Given the description of an element on the screen output the (x, y) to click on. 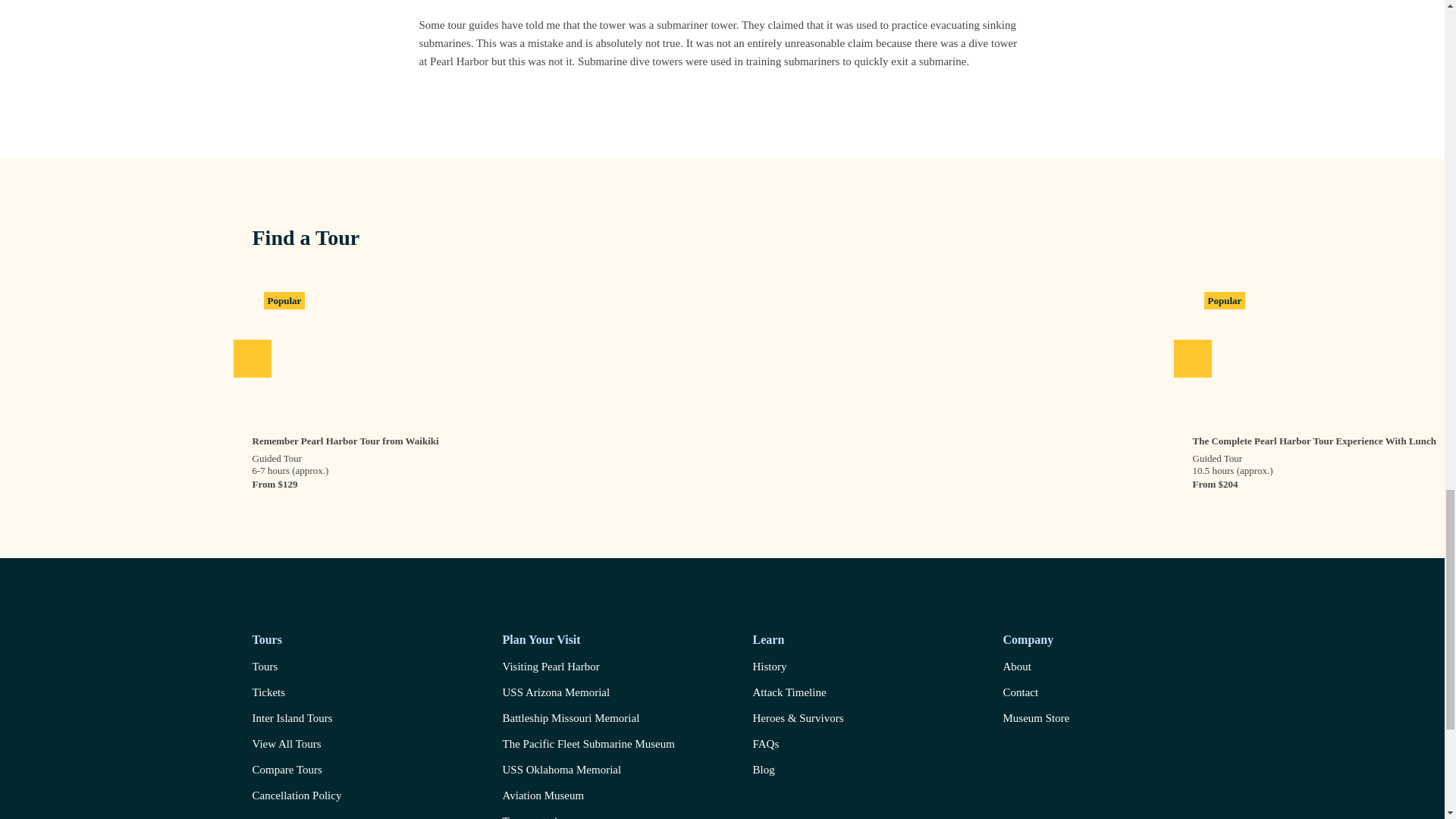
Inter Island Tours (295, 721)
The Complete Pearl Harbor Tour Experience With Lunch (1313, 432)
Tours (295, 670)
Tickets (295, 696)
Remember Pearl Harbor Tour from Waikiki (344, 432)
Popular (721, 350)
